Given the description of an element on the screen output the (x, y) to click on. 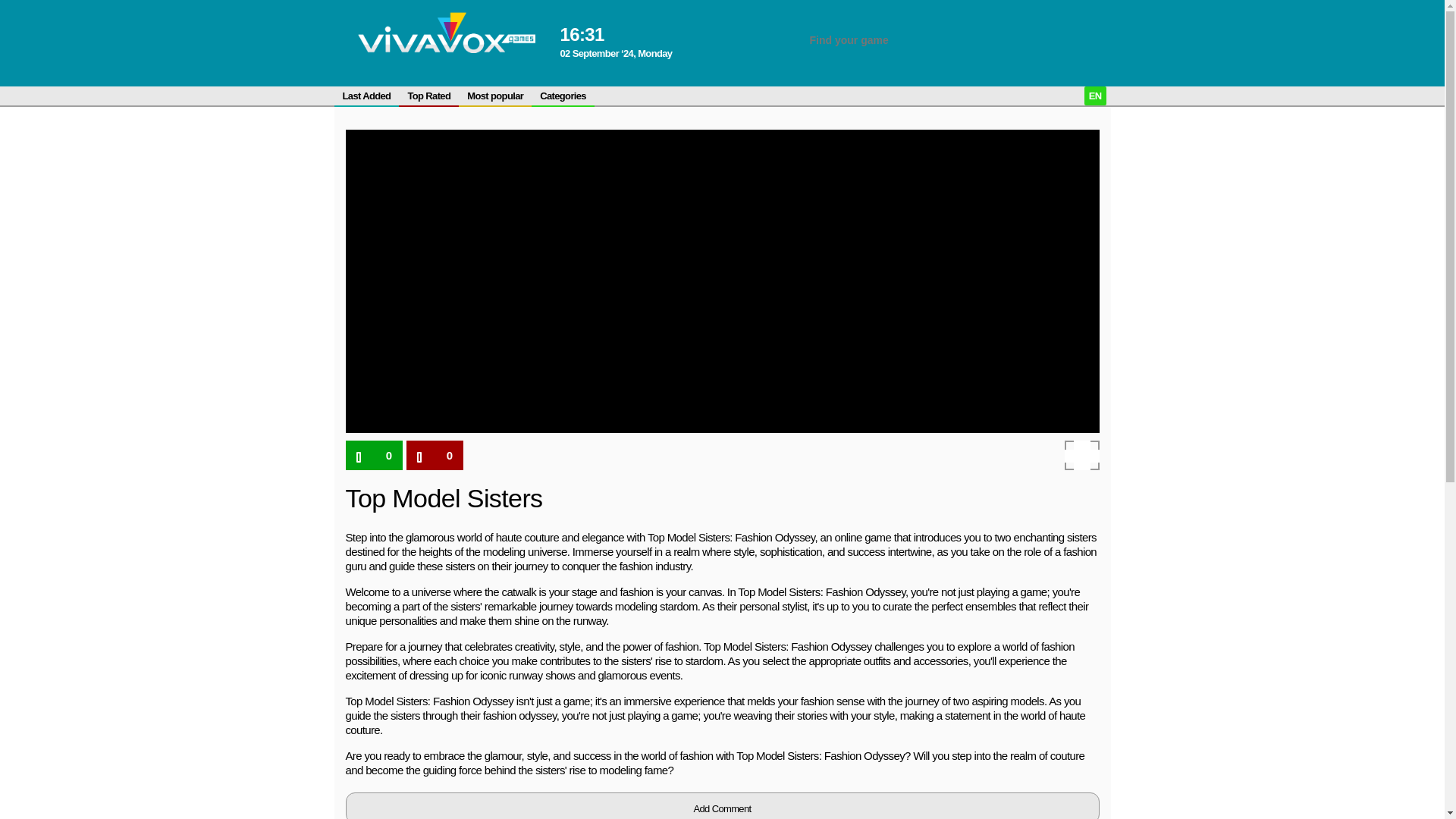
0 (434, 455)
Categories (562, 96)
EN (1095, 95)
Dislike! (434, 455)
0 (374, 455)
Like! (374, 455)
Top Rated (428, 96)
Most popular (494, 96)
Last Added (365, 96)
Full Screen (1081, 455)
